Given the description of an element on the screen output the (x, y) to click on. 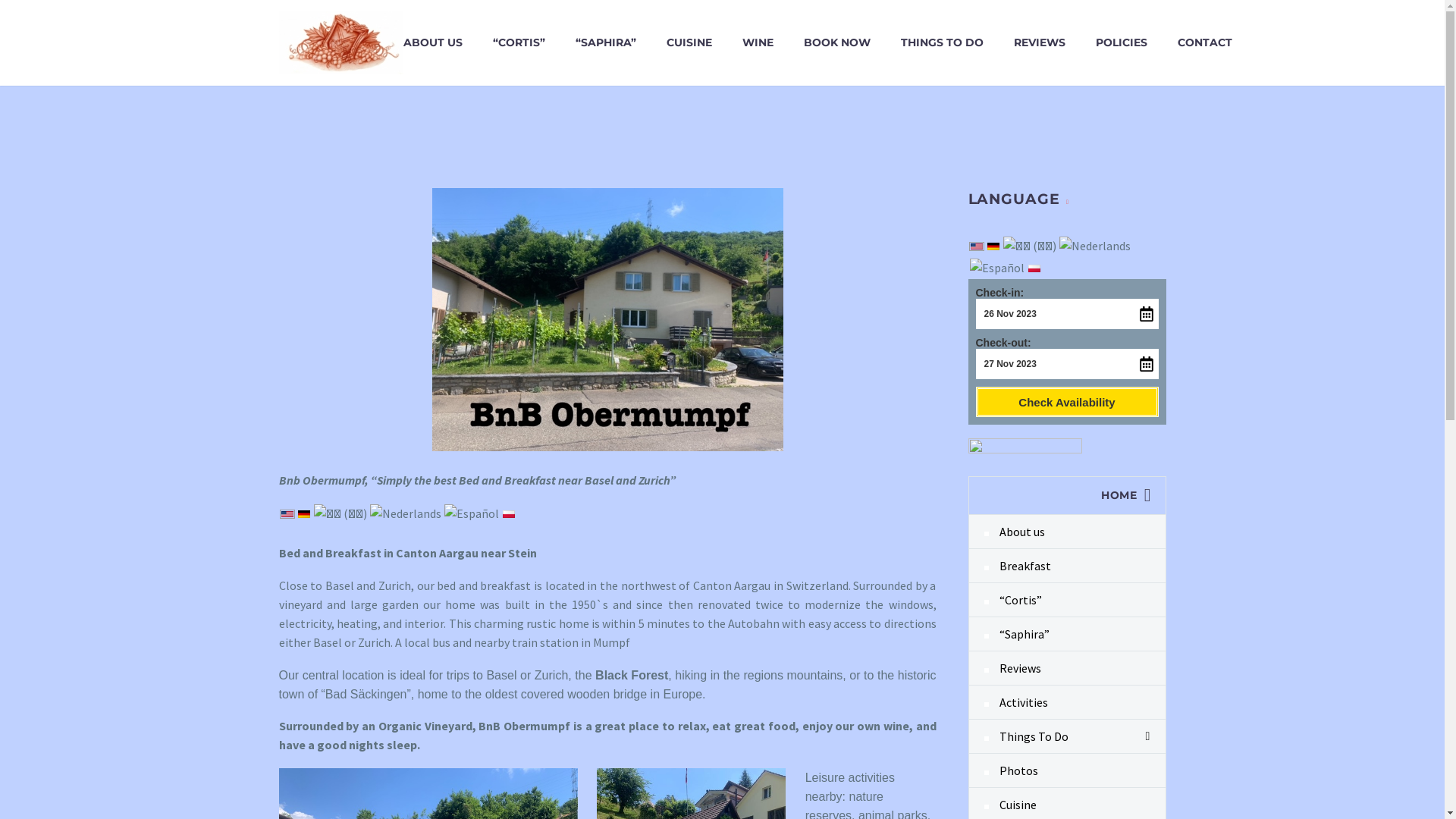
HOME Element type: text (1067, 495)
Photos Element type: text (1067, 770)
pl_PL Element type: text (1033, 266)
BOOK NOW Element type: text (836, 42)
Polski Element type: hover (1033, 266)
nl_NL Element type: text (1094, 246)
Polski Element type: hover (508, 512)
Things To Do Element type: text (1067, 736)
Nederlands Element type: hover (1094, 246)
CUISINE Element type: text (688, 42)
Deutsch Element type: hover (992, 244)
About us Element type: text (1067, 531)
CONTACT Element type: text (1203, 42)
de_DE Element type: text (992, 244)
REVIEWS Element type: text (1038, 42)
Breakfast Element type: text (1067, 565)
zh_TW Element type: text (340, 513)
pl_PL Element type: text (508, 512)
WINE Element type: text (756, 42)
Reviews Element type: text (1067, 667)
Check Availability Element type: text (1066, 401)
English Element type: hover (975, 244)
THINGS TO DO Element type: text (941, 42)
es_ES Element type: text (996, 268)
de_DE Element type: text (303, 512)
en_US Element type: text (287, 512)
Deutsch Element type: hover (303, 512)
POLICIES Element type: text (1120, 42)
English Element type: hover (287, 512)
Activities Element type: text (1067, 701)
es_ES Element type: text (471, 513)
en_US Element type: text (975, 244)
Nederlands Element type: hover (405, 513)
ABOUT US Element type: text (432, 42)
nl_NL Element type: text (405, 513)
zh_TW Element type: text (1029, 246)
